Given the description of an element on the screen output the (x, y) to click on. 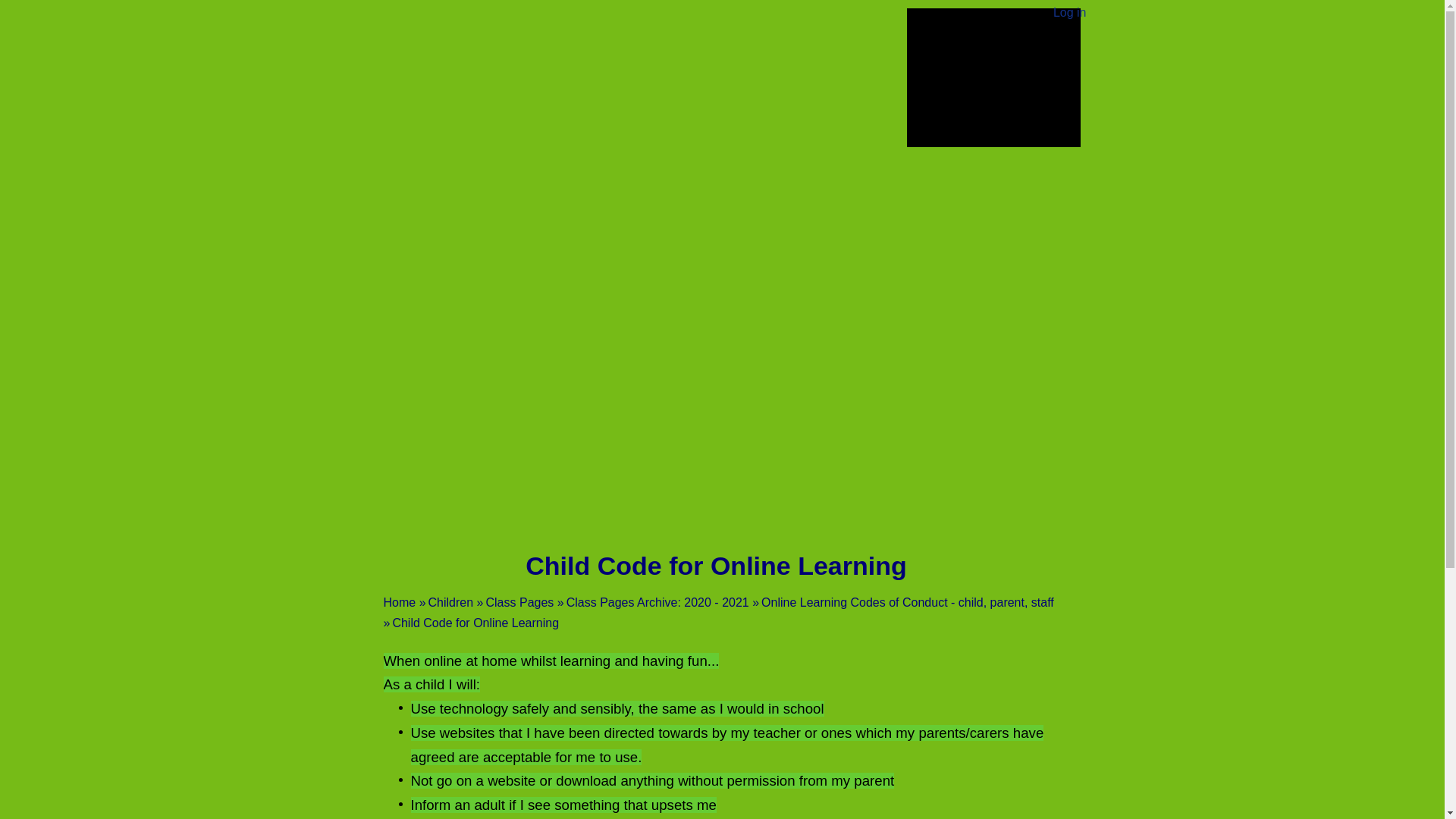
Home Page (630, 48)
Children (451, 602)
Log in (1069, 13)
Home (400, 602)
About Us (506, 429)
Class Pages (518, 602)
Class Pages Archive: 2020 - 2021 (657, 602)
Home (407, 429)
Home Page (630, 48)
Online Learning Codes of Conduct - child, parent, staff (907, 602)
